Given the description of an element on the screen output the (x, y) to click on. 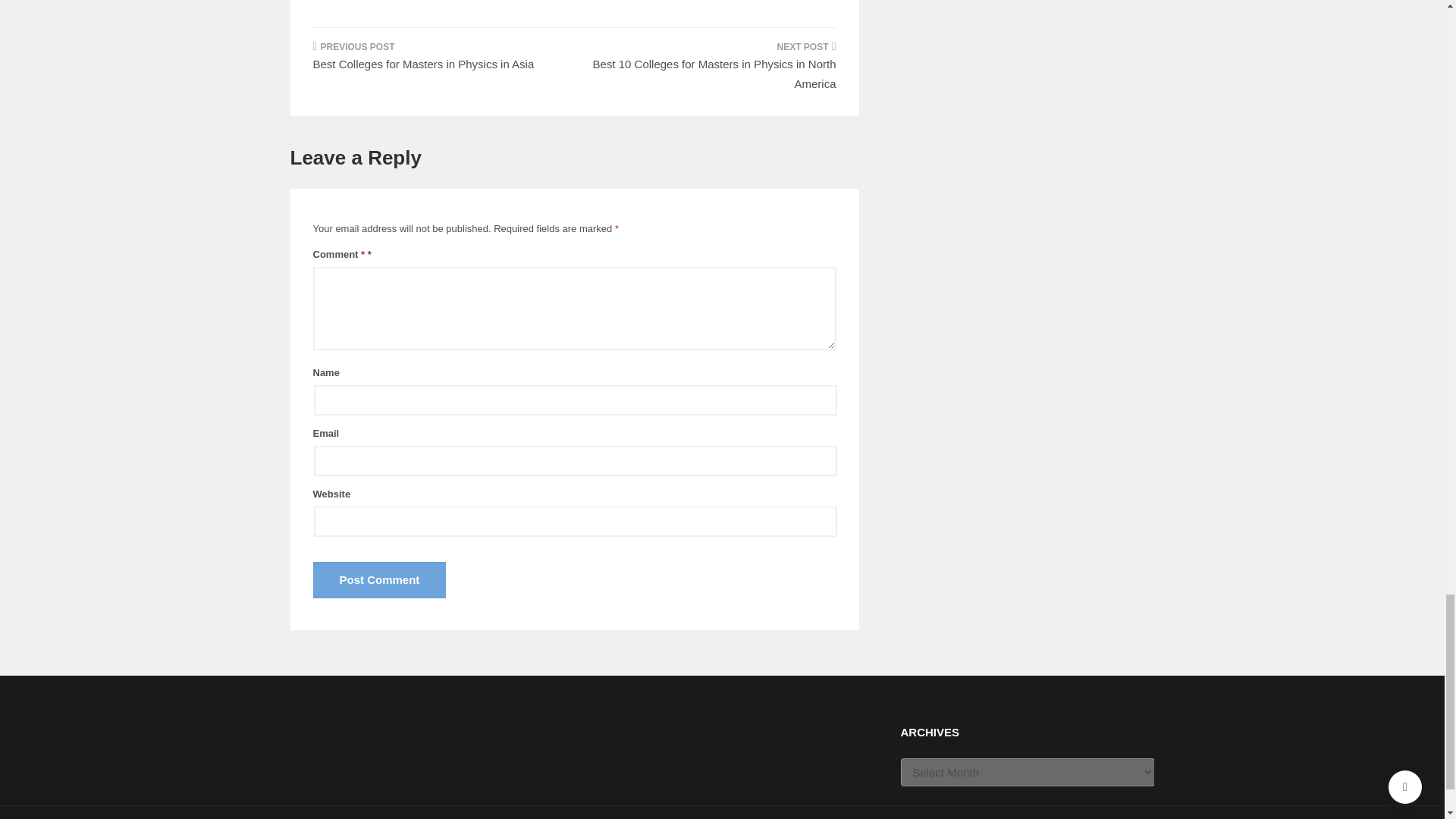
Post Comment (379, 579)
